Given the description of an element on the screen output the (x, y) to click on. 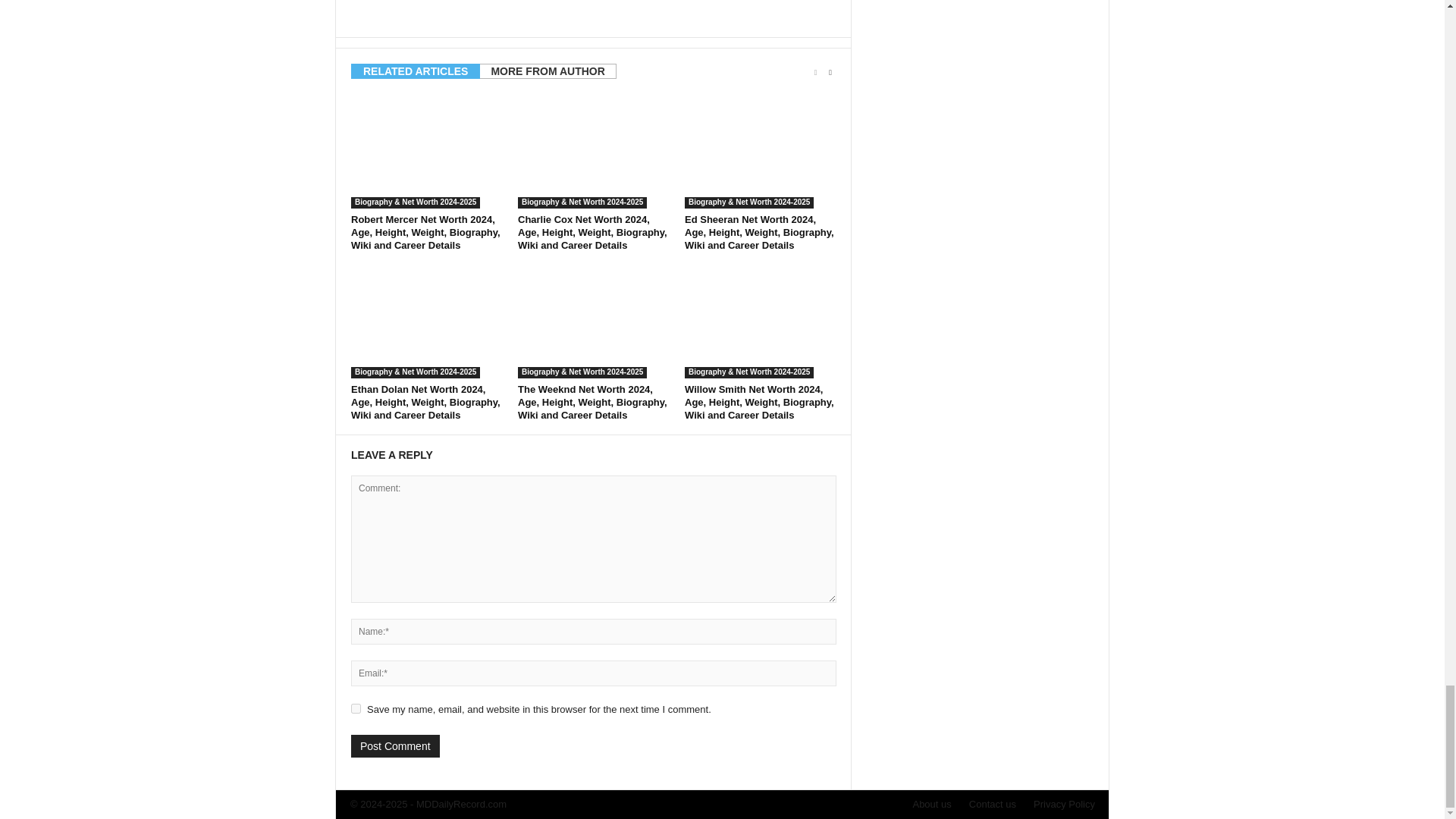
RELATED ARTICLES (415, 70)
